Given the description of an element on the screen output the (x, y) to click on. 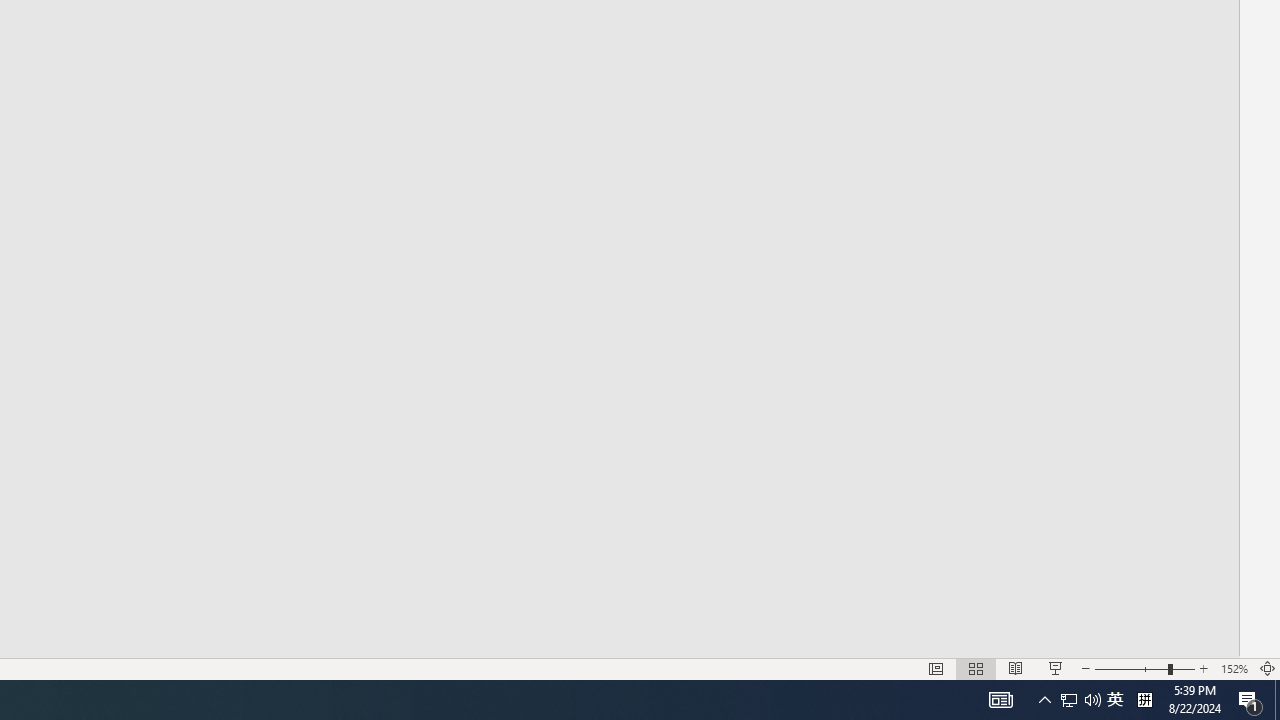
Zoom 152% (1234, 668)
